Given the description of an element on the screen output the (x, y) to click on. 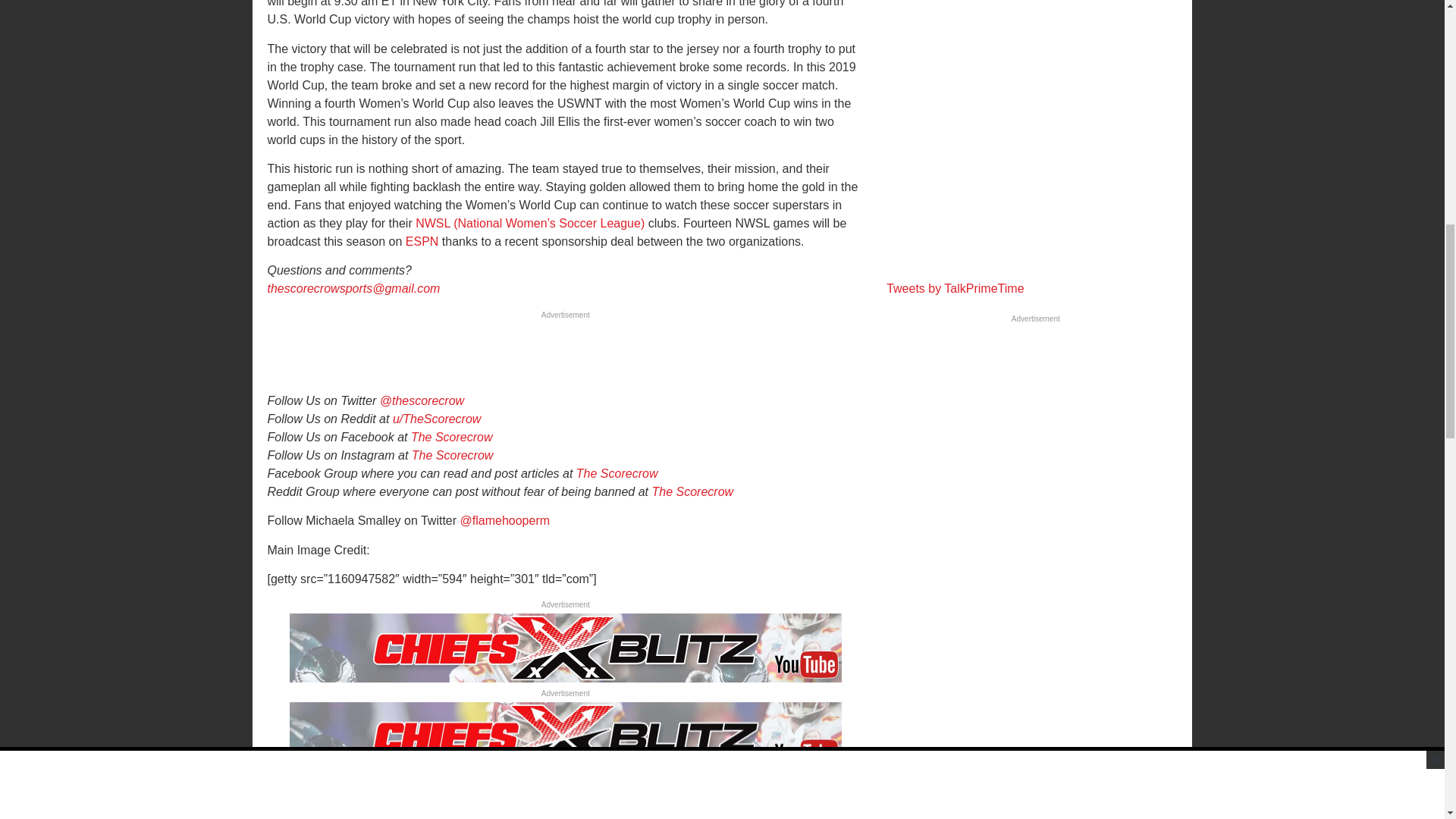
3rd party ad content (1035, 132)
3rd party ad content (564, 357)
